Given the description of an element on the screen output the (x, y) to click on. 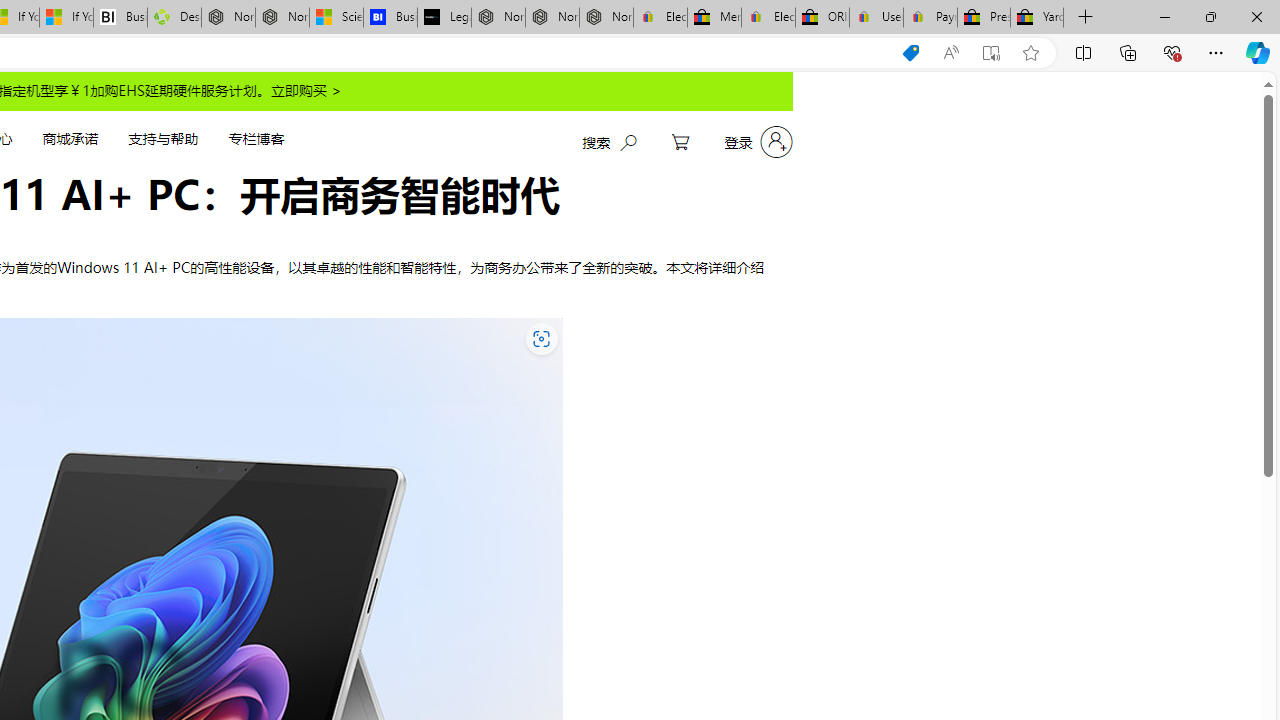
Payments Terms of Use | eBay.com (930, 17)
Yard, Garden & Outdoor Living (1037, 17)
User Privacy Notice | eBay (875, 17)
Descarga Driver Updater (174, 17)
